Given the description of an element on the screen output the (x, y) to click on. 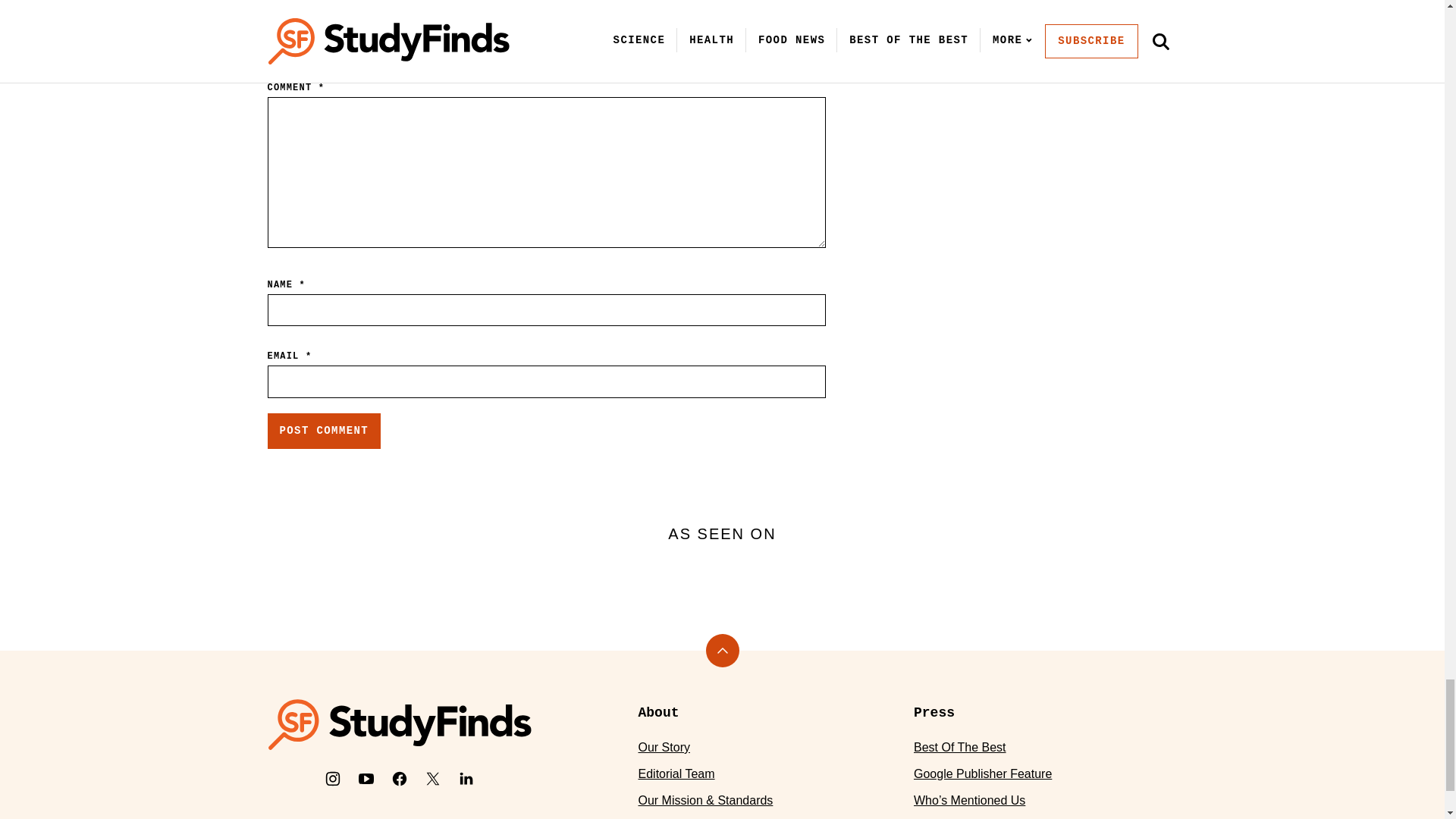
Post Comment (323, 431)
